Given the description of an element on the screen output the (x, y) to click on. 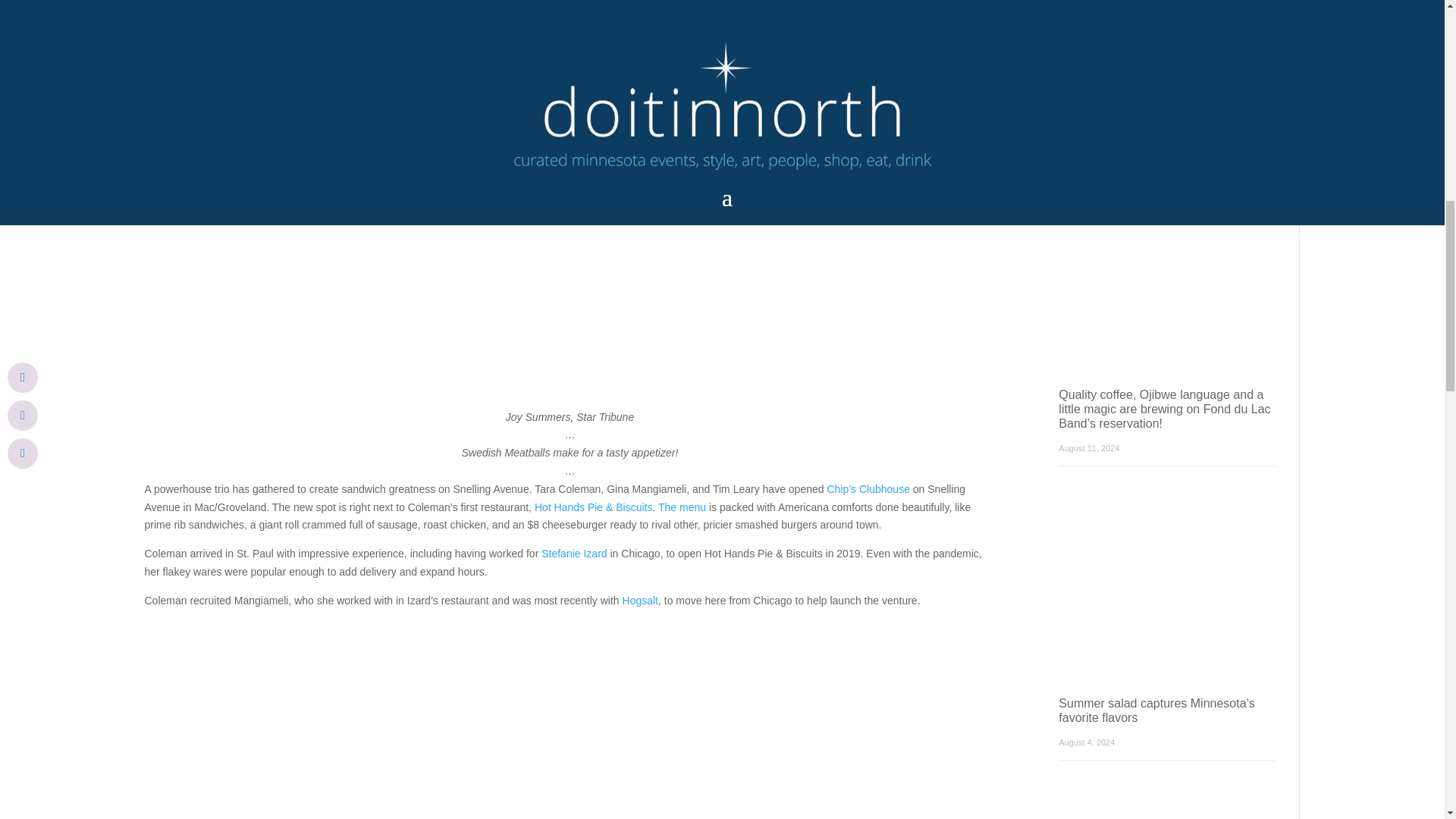
The menu (682, 507)
Stefanie Izard (574, 553)
Hogsalt (640, 600)
